Given the description of an element on the screen output the (x, y) to click on. 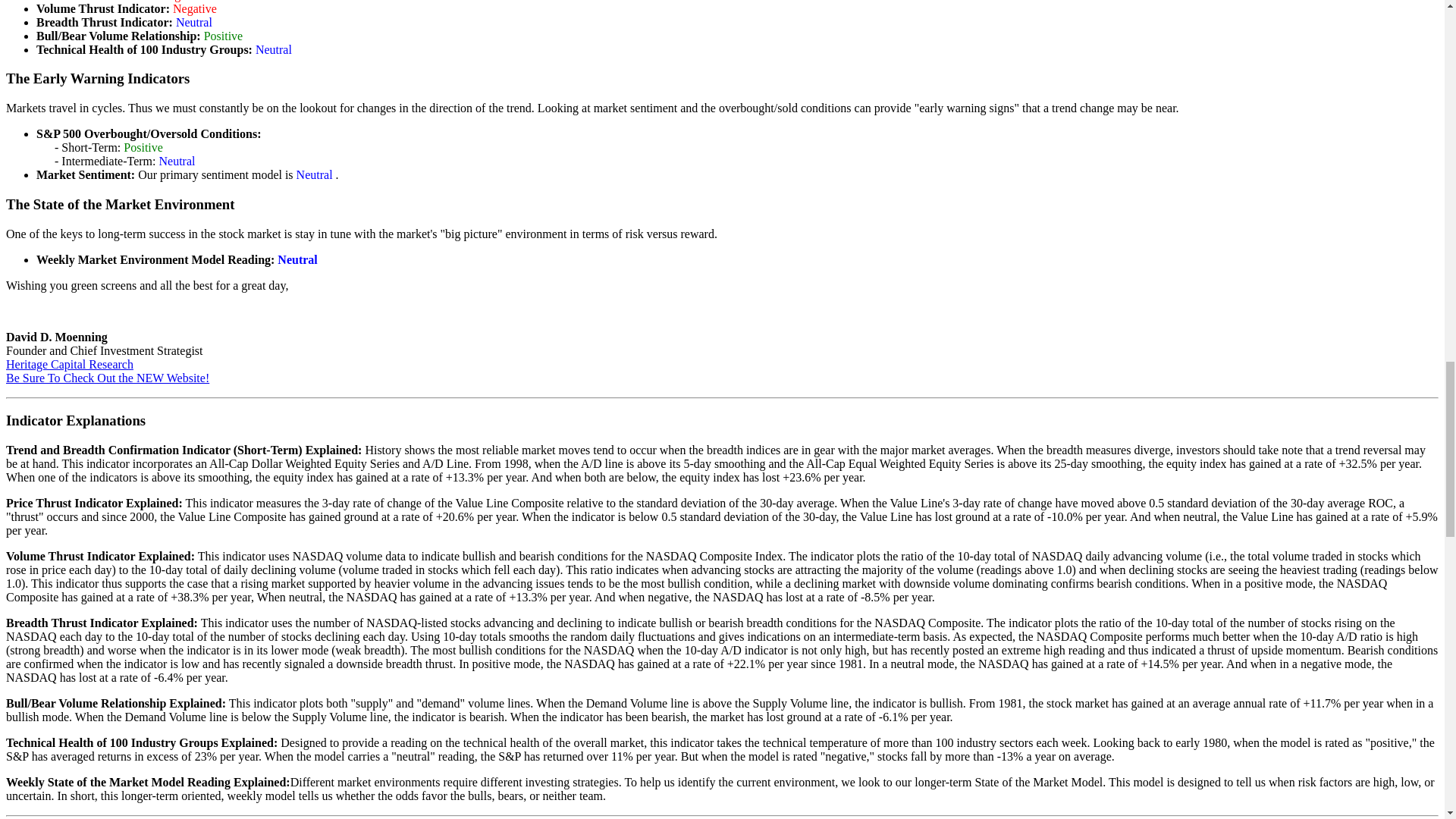
Be Sure To Check Out the NEW Website! (107, 377)
Heritage Capital Research (69, 364)
